Given the description of an element on the screen output the (x, y) to click on. 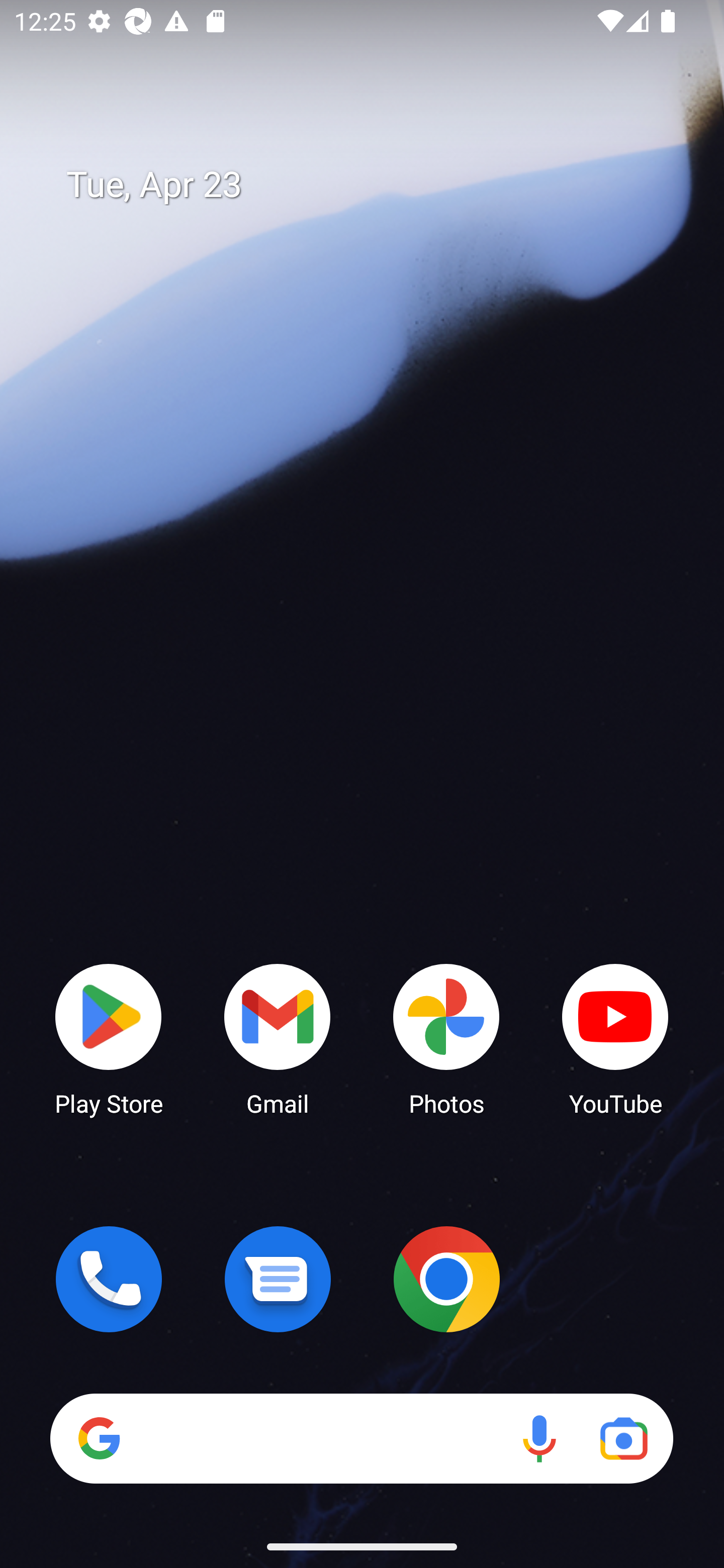
Tue, Apr 23 (375, 184)
Play Store (108, 1038)
Gmail (277, 1038)
Photos (445, 1038)
YouTube (615, 1038)
Phone (108, 1279)
Messages (277, 1279)
Chrome (446, 1279)
Search Voice search Google Lens (361, 1438)
Voice search (539, 1438)
Google Lens (623, 1438)
